Given the description of an element on the screen output the (x, y) to click on. 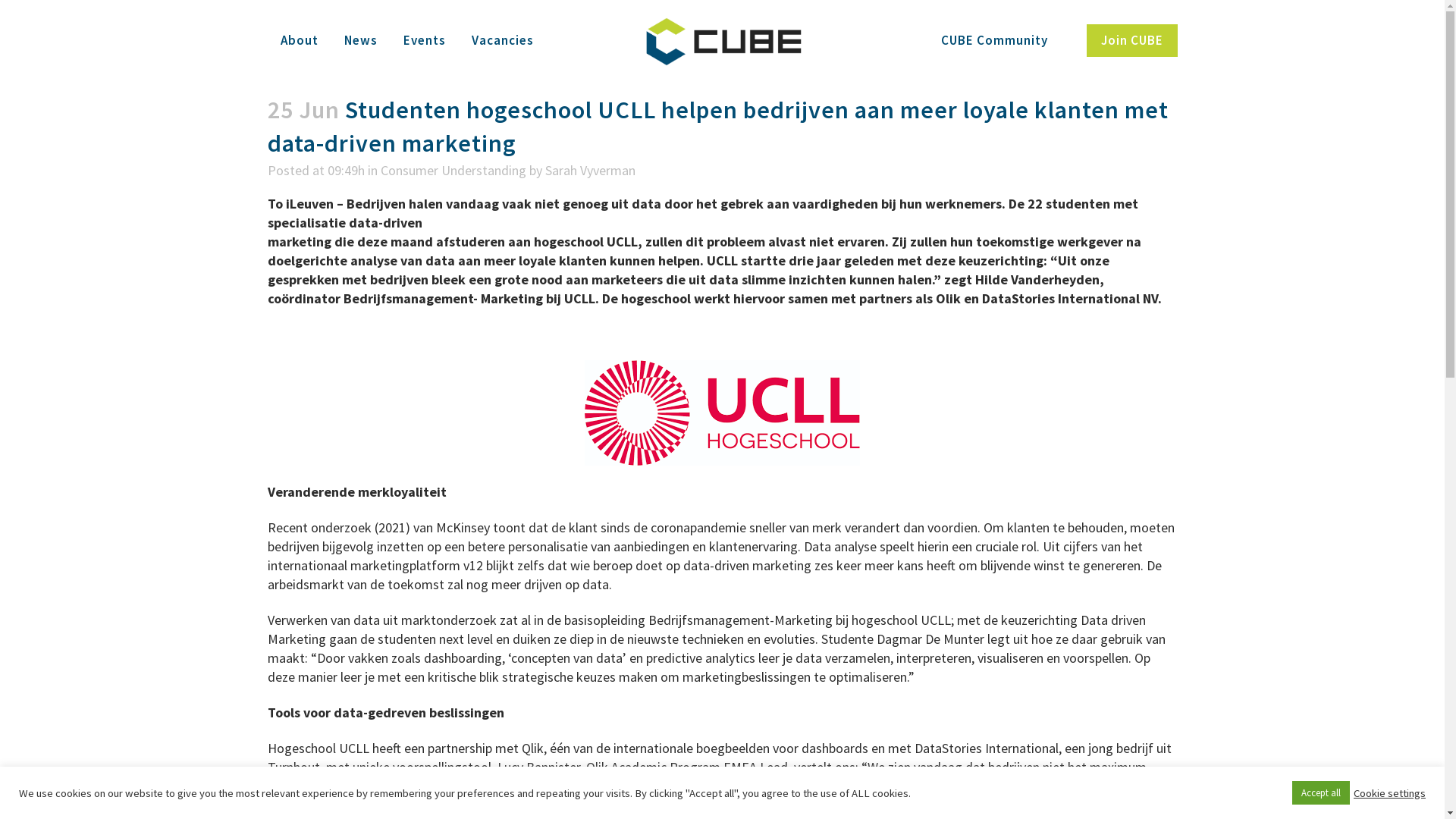
Join CUBE Element type: text (1130, 40)
News Element type: text (359, 40)
Vacancies Element type: text (502, 40)
Sarah Vyverman Element type: text (589, 169)
Accept all Element type: text (1320, 792)
About Element type: text (298, 40)
Events Element type: text (423, 40)
Consumer Understanding Element type: text (453, 169)
Cookie settings Element type: text (1389, 792)
CUBE Community Element type: text (994, 40)
